Given the description of an element on the screen output the (x, y) to click on. 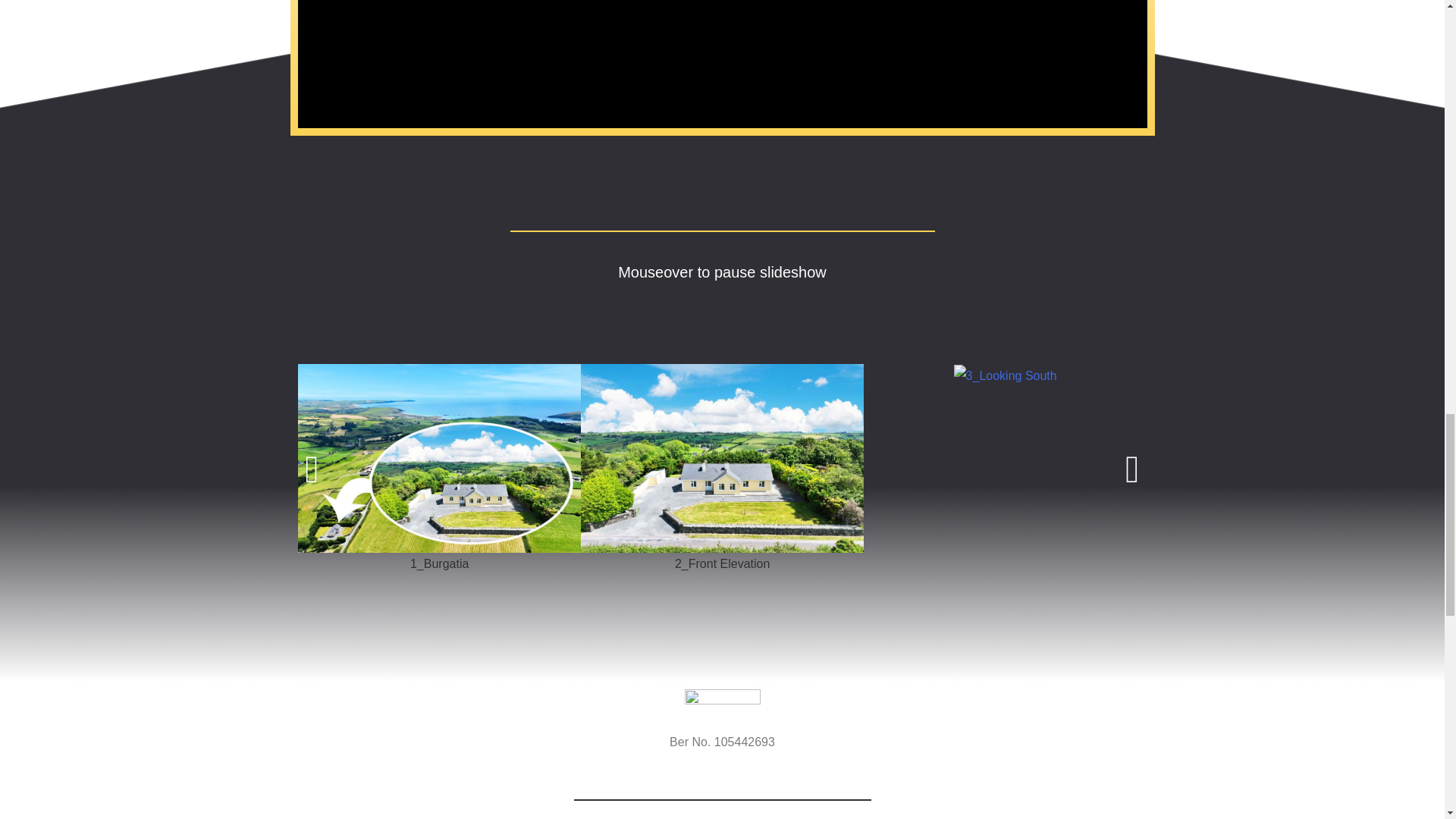
vimeo Video Player (722, 63)
